Given the description of an element on the screen output the (x, y) to click on. 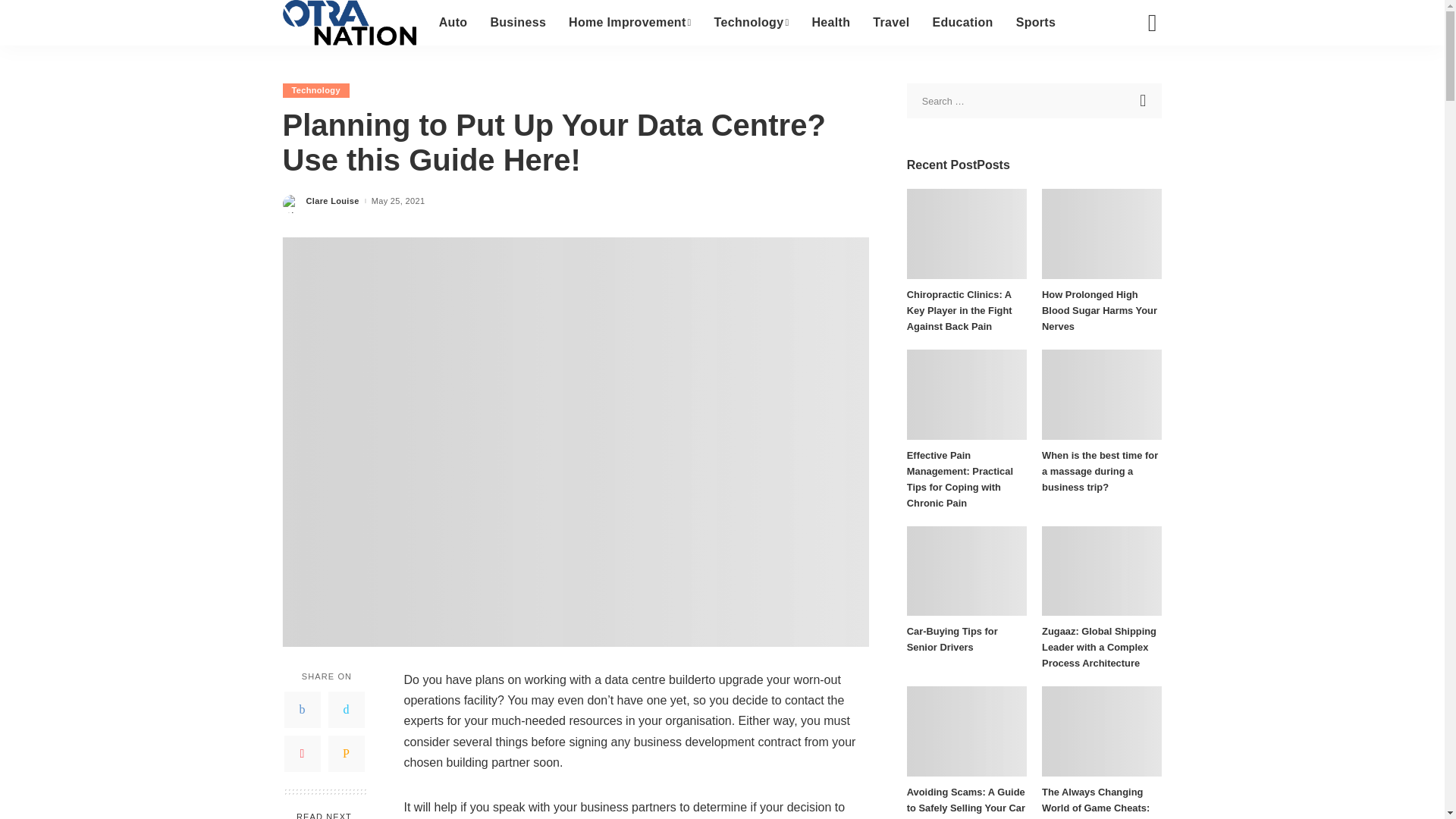
Health (830, 22)
Clare Louise (332, 201)
Technology (315, 90)
Travel (890, 22)
Search (1140, 76)
Business (518, 22)
Twitter (345, 709)
Home Improvement (630, 22)
Search (1143, 100)
otranation (348, 22)
Auto (453, 22)
Education (962, 22)
Email (345, 753)
Search (1143, 100)
Facebook (301, 709)
